Given the description of an element on the screen output the (x, y) to click on. 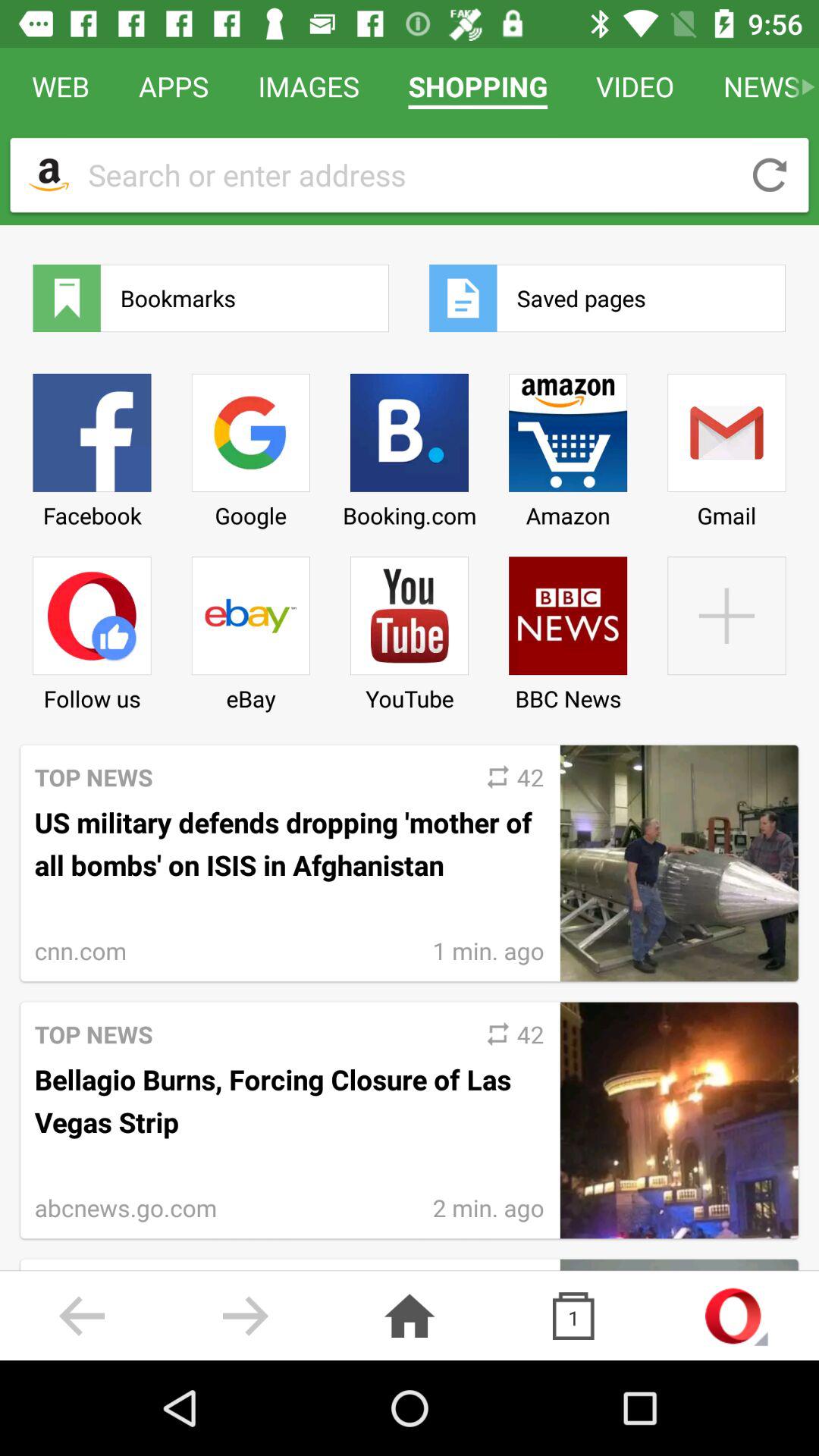
tap item next to the shopping icon (308, 86)
